Given the description of an element on the screen output the (x, y) to click on. 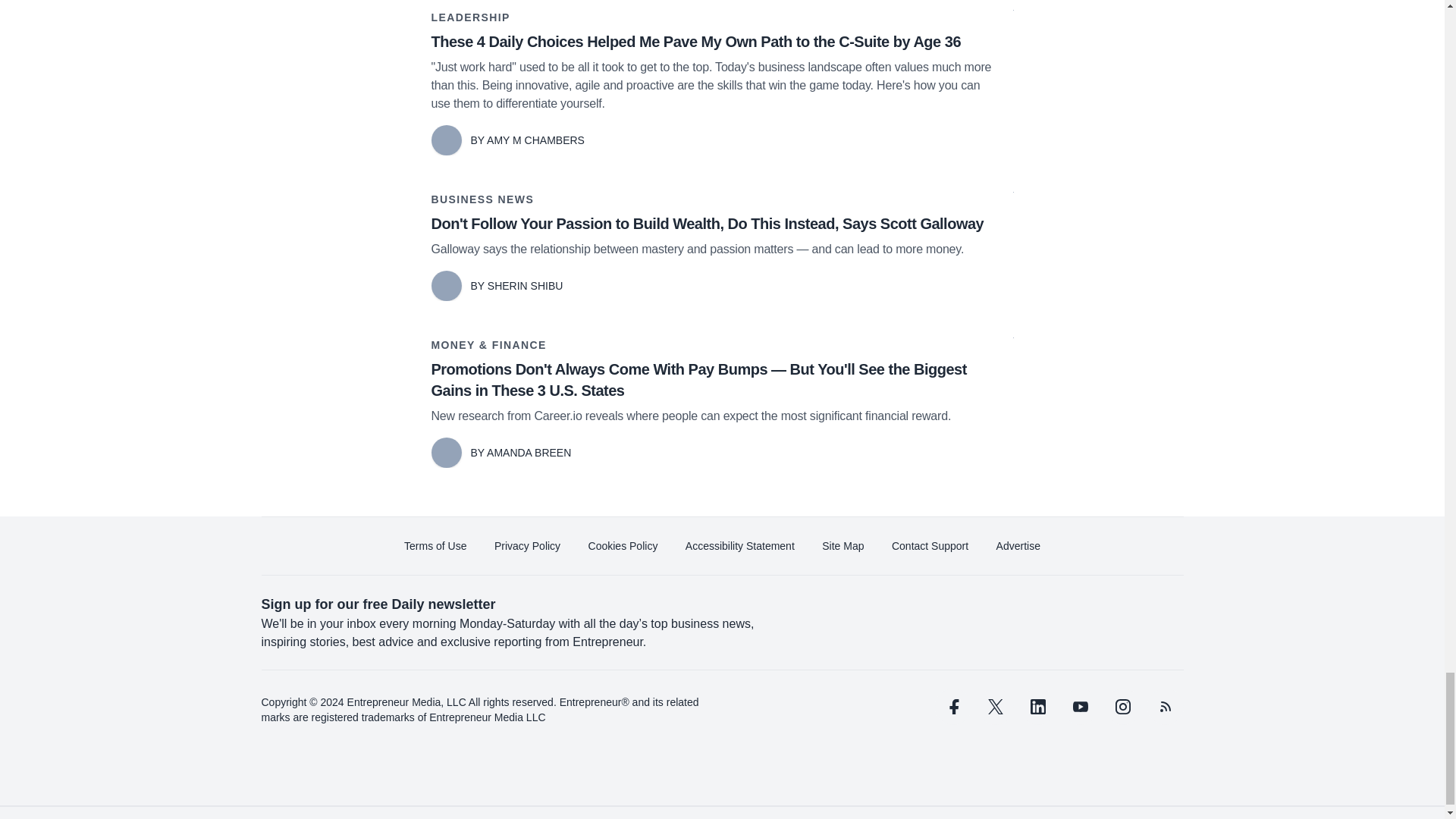
rss (1164, 706)
facebook (952, 706)
linkedin (1037, 706)
twitter (994, 706)
youtube (1079, 706)
instagram (1121, 706)
